Given the description of an element on the screen output the (x, y) to click on. 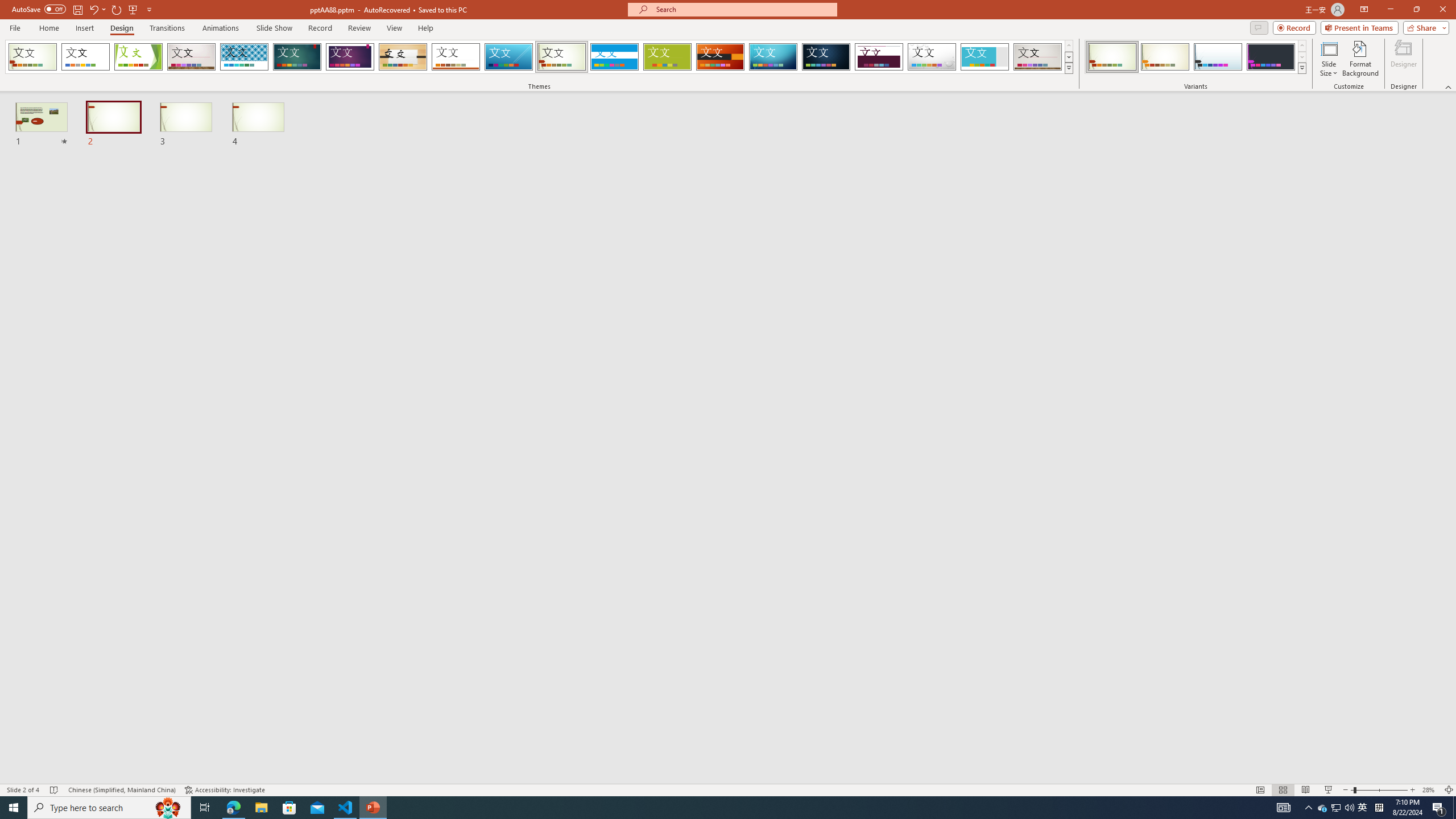
Facet (138, 56)
Themes (1068, 67)
Dividend Loading Preview... (879, 56)
